Given the description of an element on the screen output the (x, y) to click on. 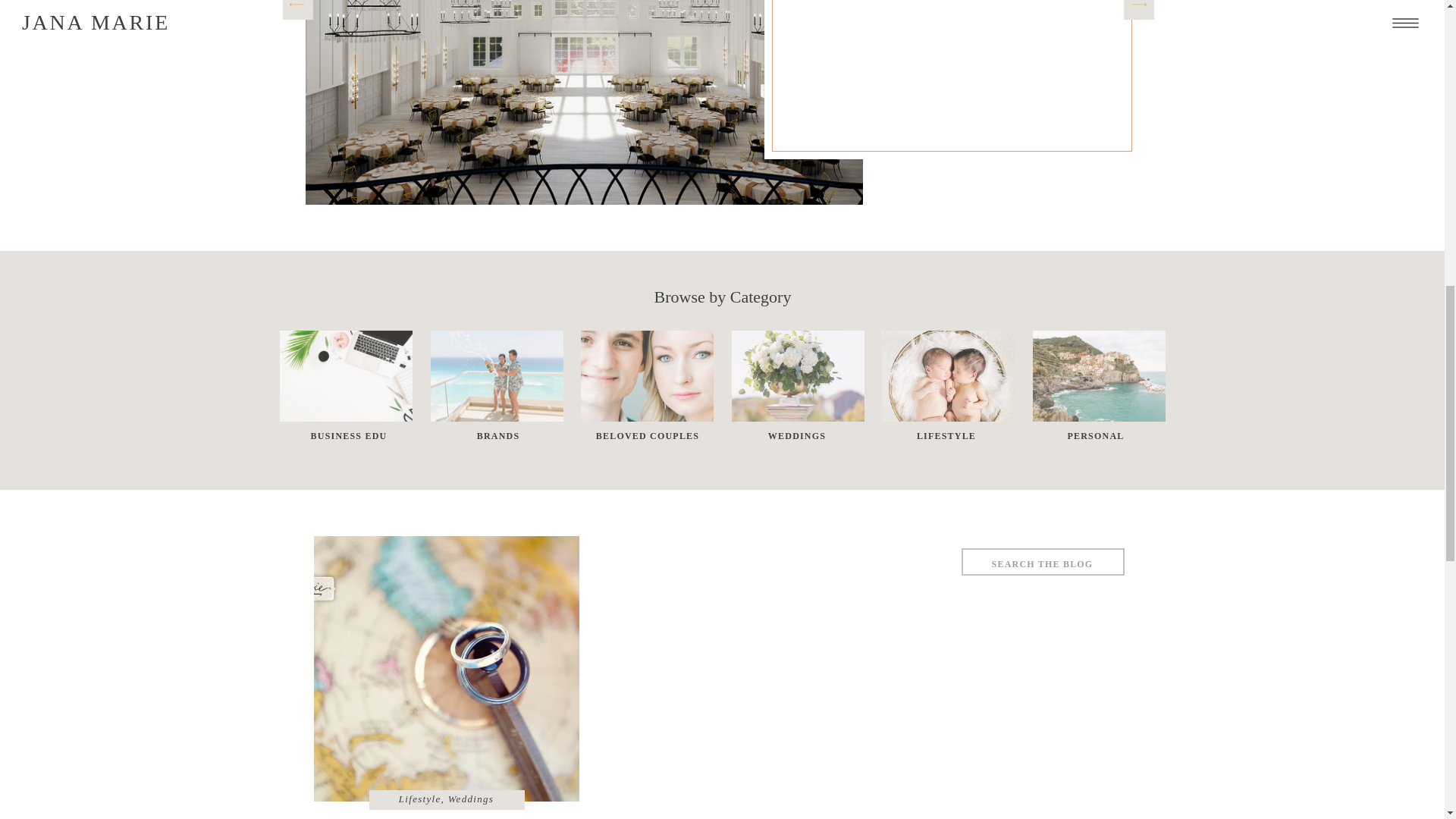
PERSONAL (1096, 437)
LIFESTYLE (945, 437)
WEDDINGS (796, 437)
BUSINESS EDU (348, 443)
BRANDS (498, 437)
BELOVED COUPLES (646, 437)
